Given the description of an element on the screen output the (x, y) to click on. 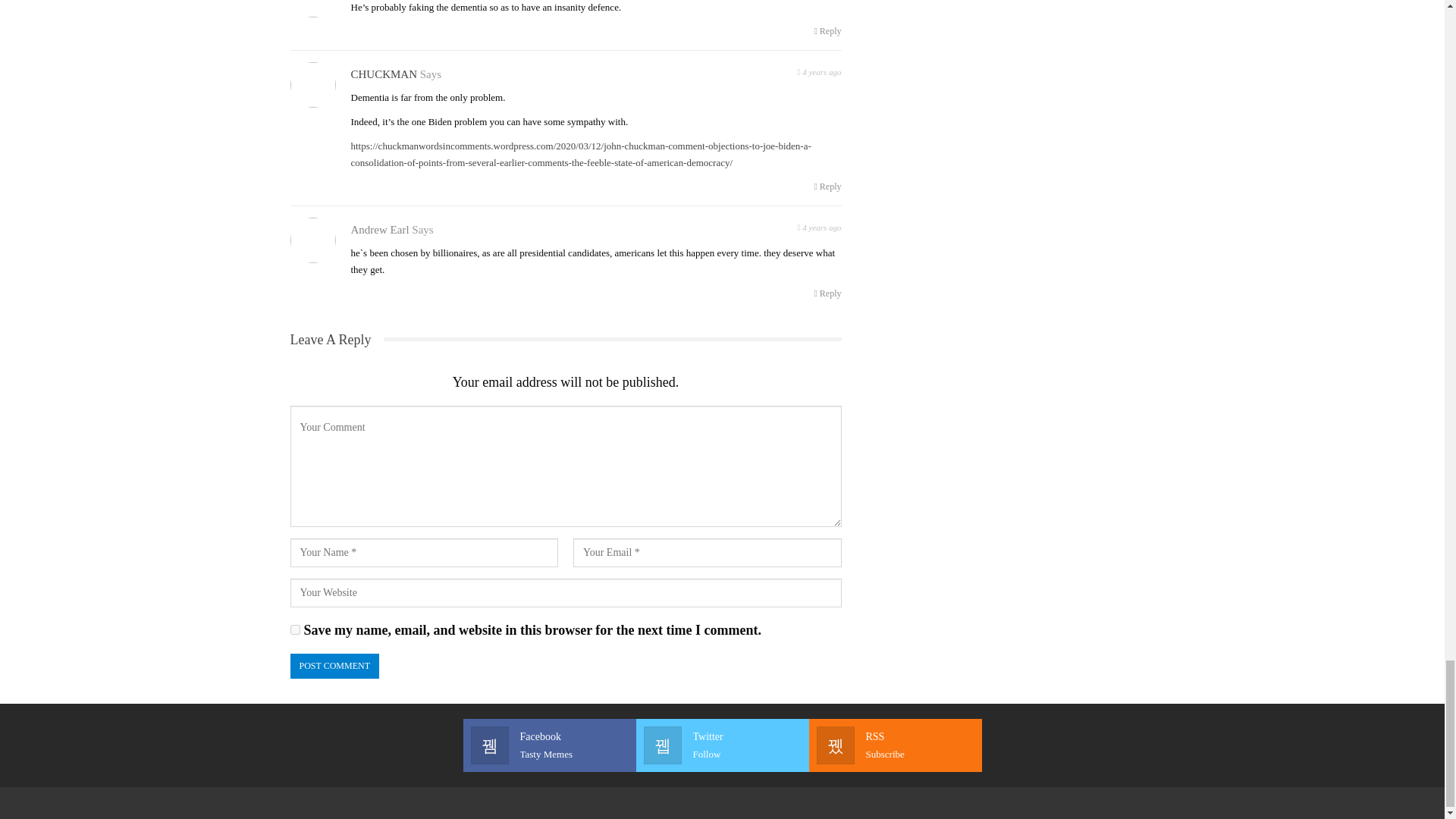
Reply (827, 186)
CHUCKMAN (383, 73)
yes (294, 629)
Post Comment (333, 665)
Reply (827, 30)
Reply (827, 293)
Post Comment (333, 665)
